Given the description of an element on the screen output the (x, y) to click on. 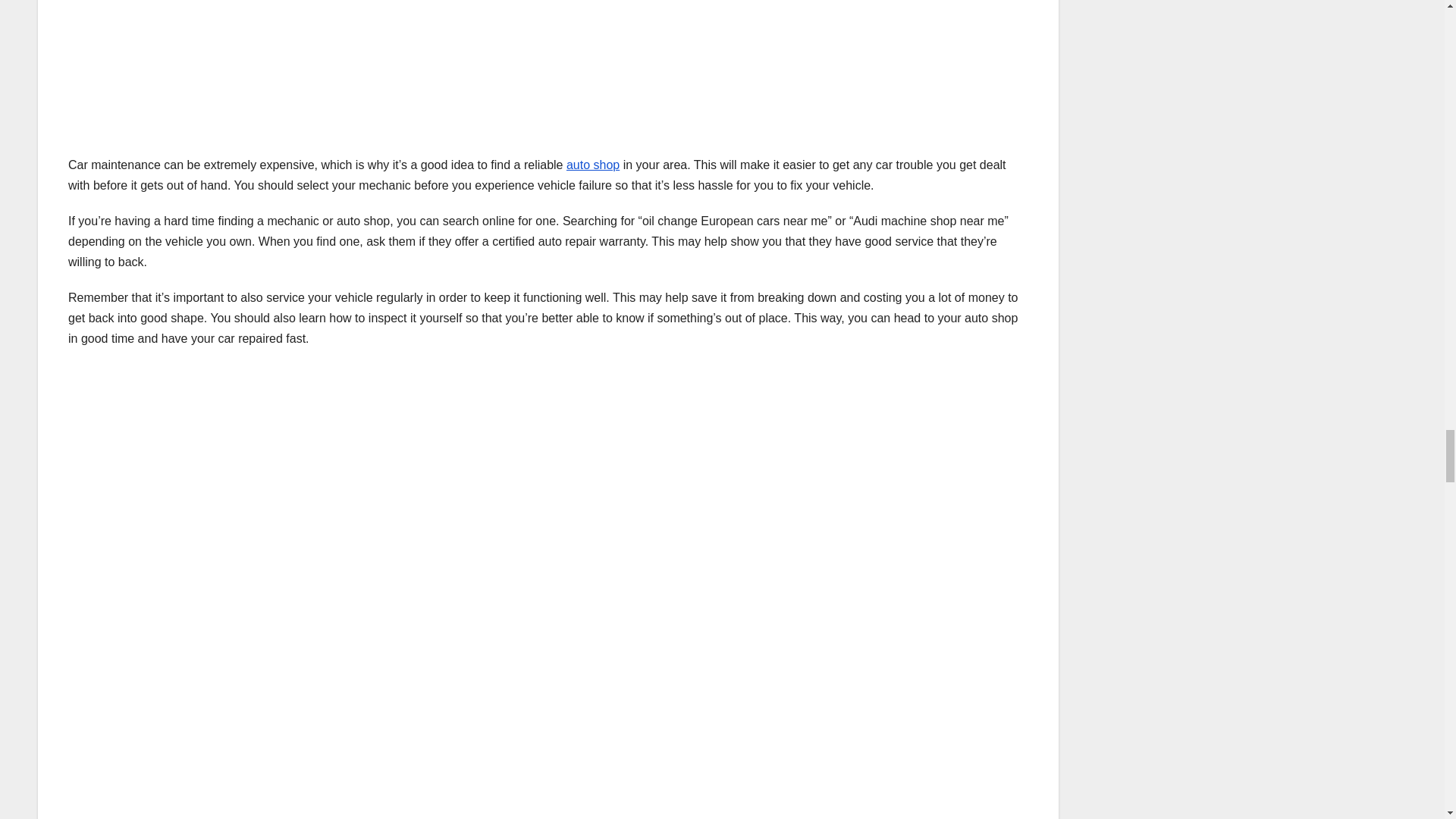
Common Car Repairs and The Average Costs on Everyman Driver (310, 66)
auto shop (593, 164)
